Given the description of an element on the screen output the (x, y) to click on. 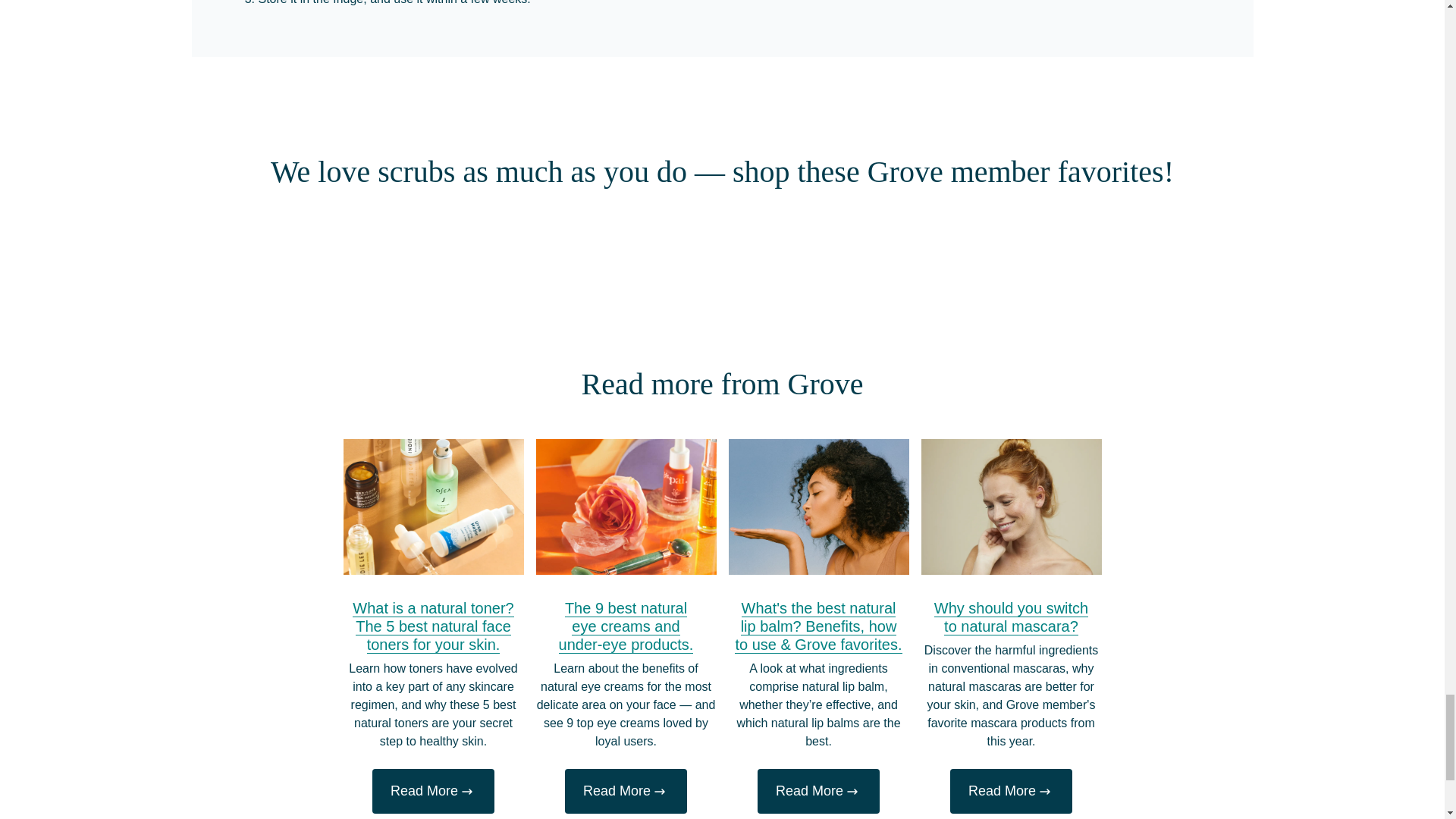
arrow (467, 791)
arrow (852, 791)
arrow (659, 791)
arrow (1044, 791)
